Given the description of an element on the screen output the (x, y) to click on. 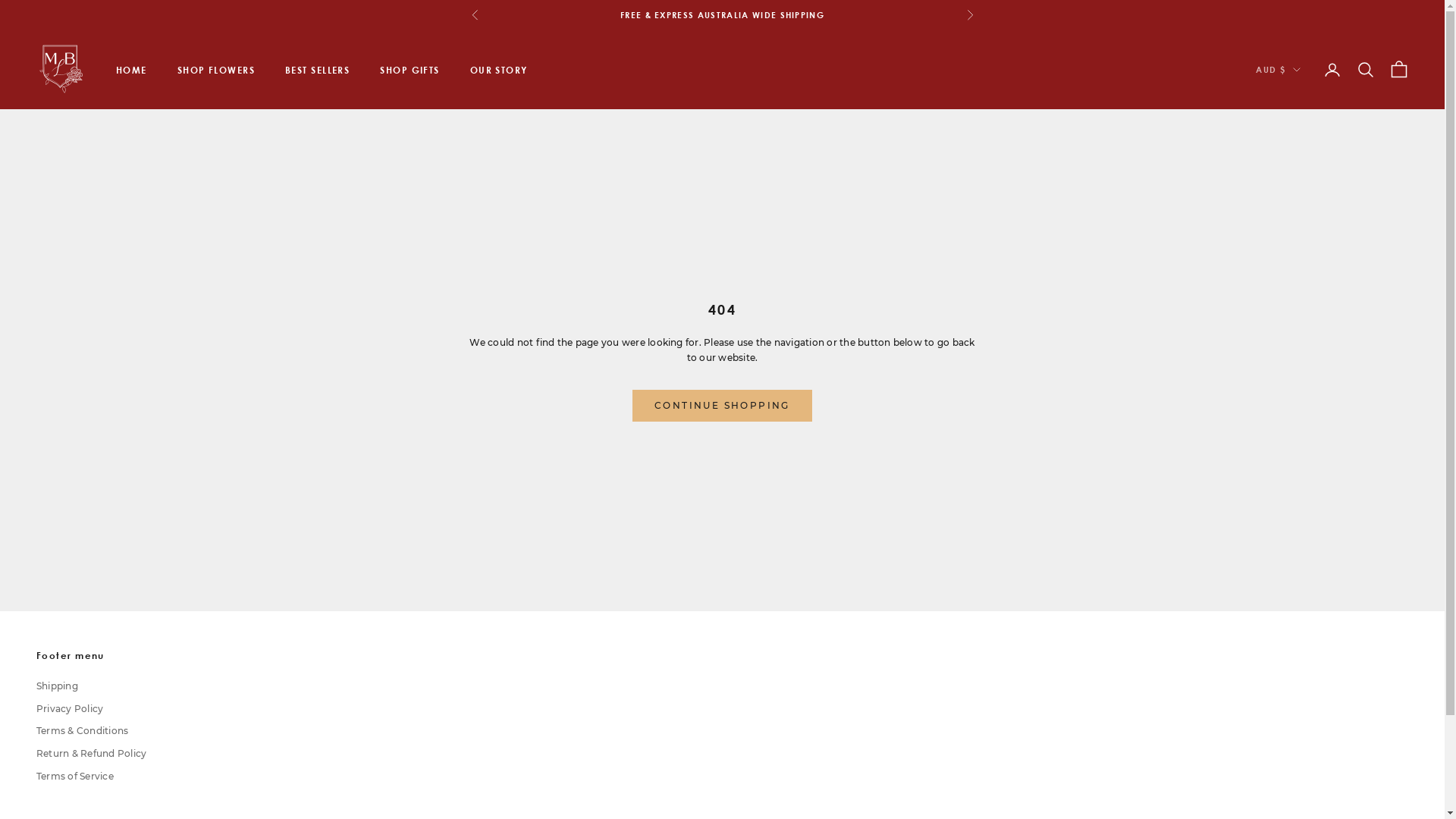
Privacy Policy Element type: text (69, 708)
SHOP GIFTS Element type: text (409, 69)
Terms of Service Element type: text (74, 775)
CONTINUE SHOPPING Element type: text (722, 405)
My Lasting Bouquet Element type: text (60, 69)
OUR STORY Element type: text (498, 69)
Open account page Element type: text (1332, 69)
Shipping Element type: text (57, 685)
AUD $ Element type: text (1277, 69)
Next Element type: text (968, 14)
BEST SELLERS Element type: text (317, 69)
Return & Refund Policy Element type: text (91, 753)
Open cart Element type: text (1399, 69)
Previous Element type: text (474, 14)
Terms & Conditions Element type: text (82, 730)
Open search Element type: text (1365, 69)
HOME Element type: text (131, 69)
